Given the description of an element on the screen output the (x, y) to click on. 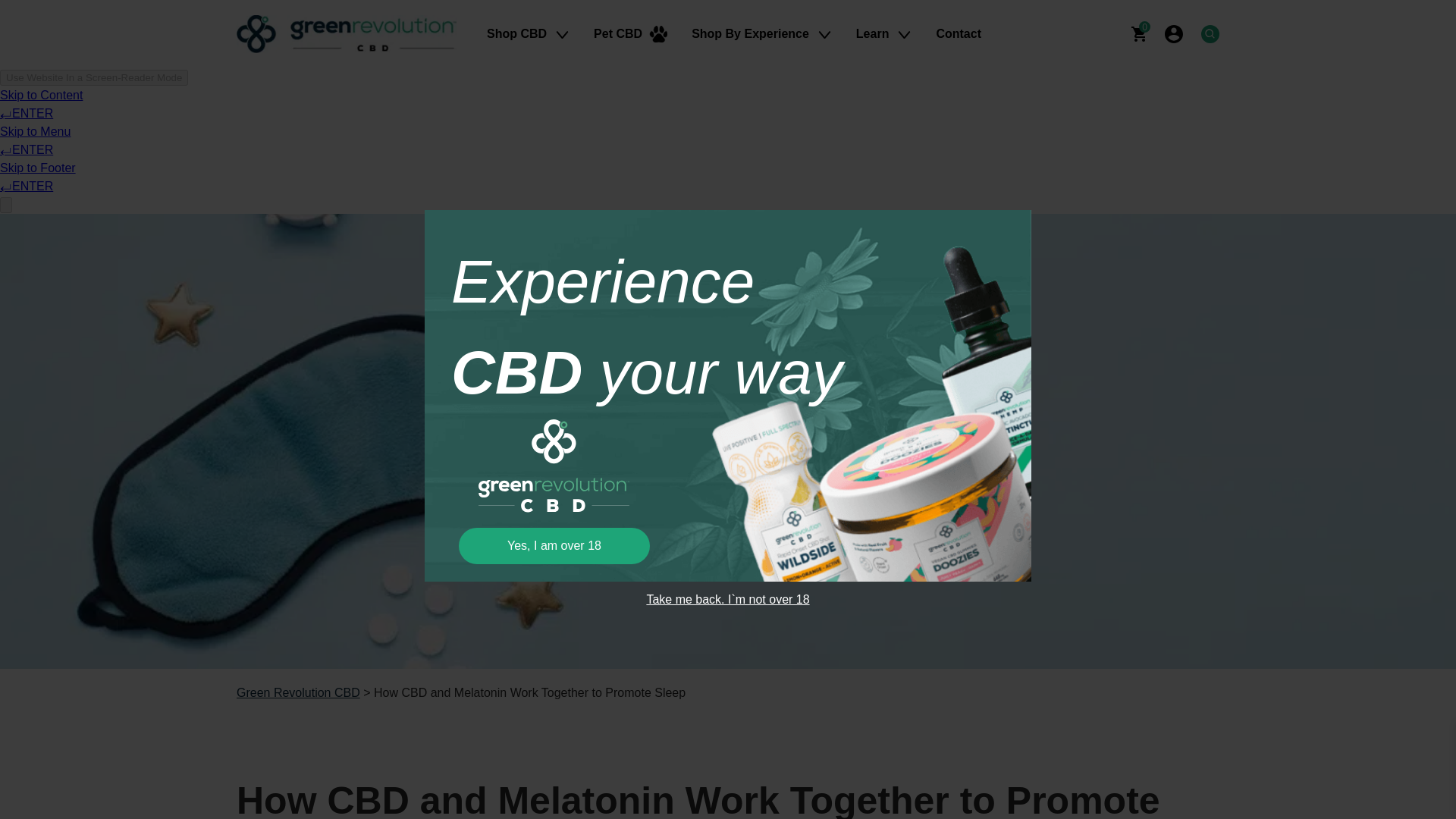
Learn (884, 33)
Contact (958, 33)
Pet CBD (630, 33)
0 (1139, 33)
My account (1173, 33)
Shop CBD (527, 33)
Search (1210, 33)
Shop By Experience (761, 33)
